Given the description of an element on the screen output the (x, y) to click on. 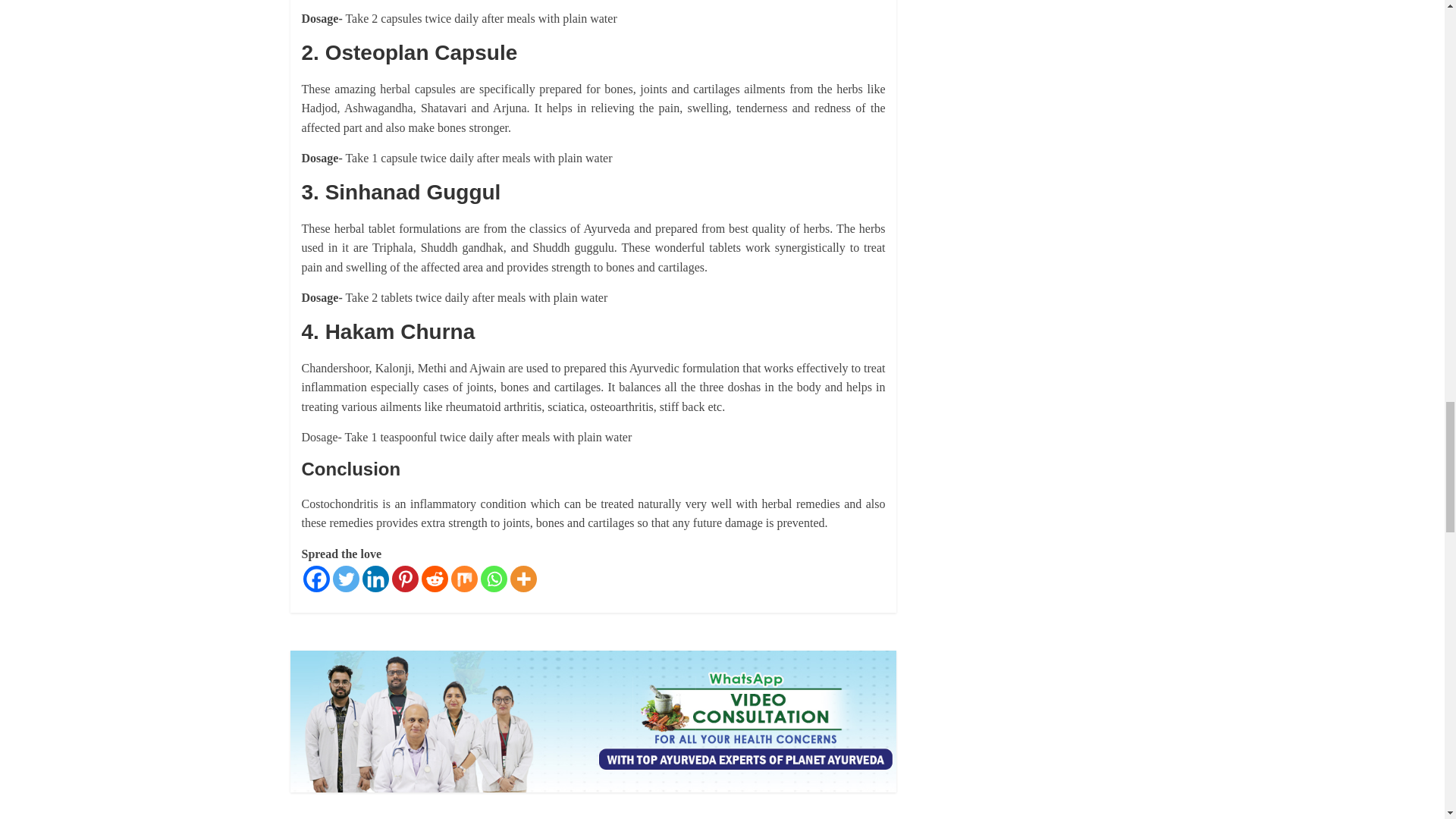
Facebook (316, 578)
Reddit (435, 578)
Mix (463, 578)
Pinterest (404, 578)
Twitter (344, 578)
Linkedin (375, 578)
